Given the description of an element on the screen output the (x, y) to click on. 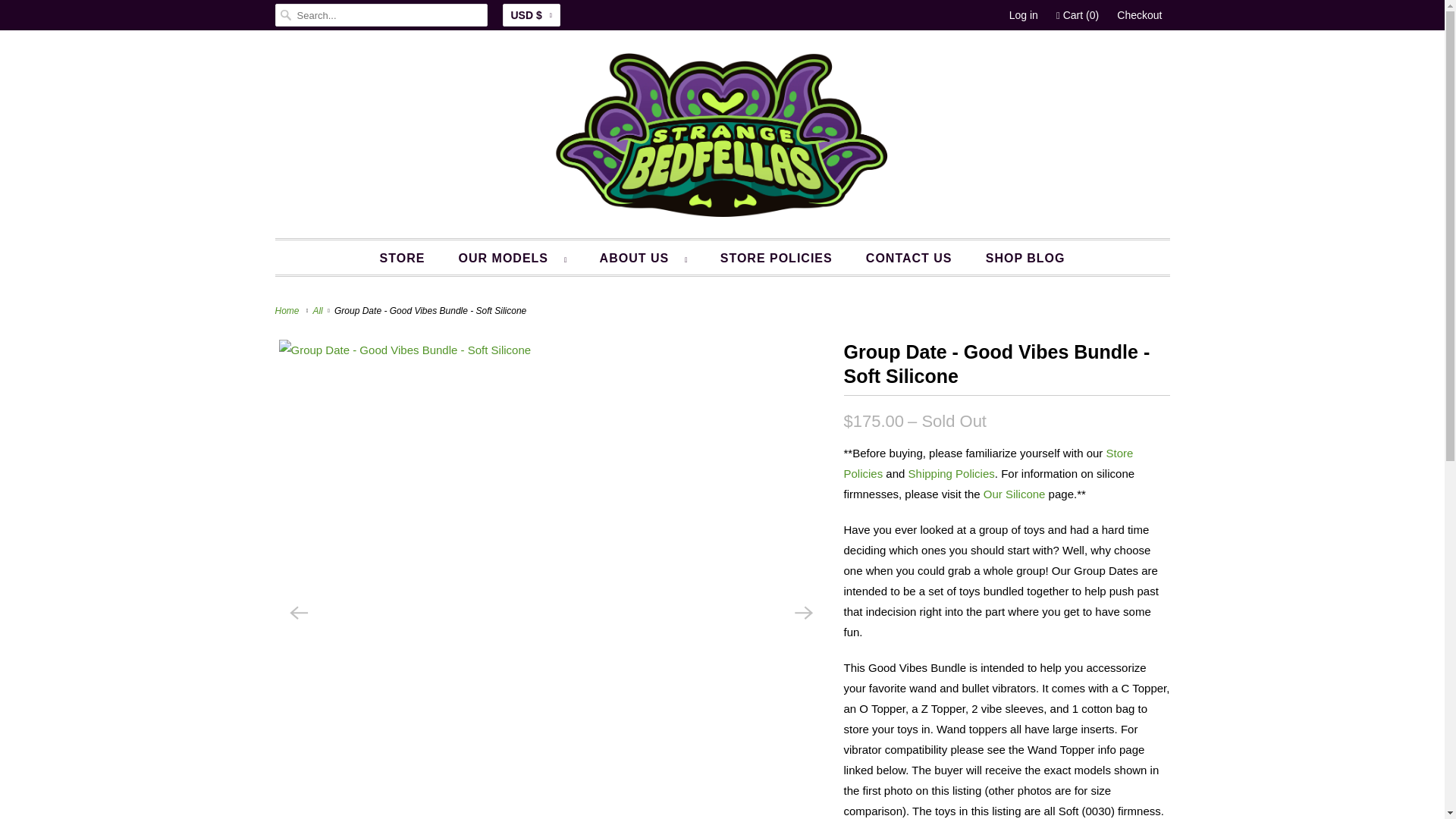
All (318, 310)
SB Creative LLC (288, 310)
